Given the description of an element on the screen output the (x, y) to click on. 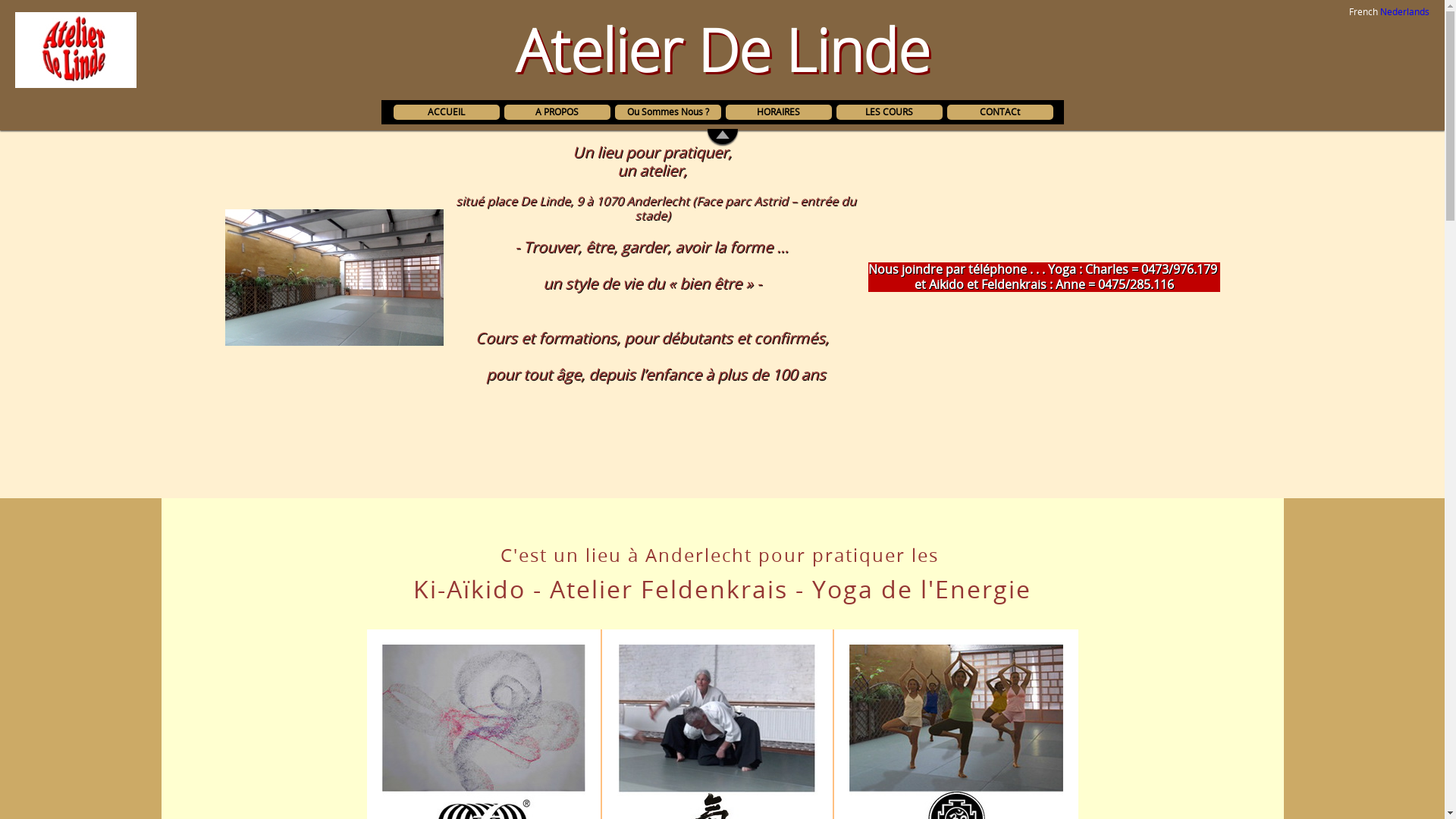
Nederlands Element type: text (1404, 11)
   Element type: text (3, 504)
A PROPOS Element type: text (556, 111)
LES COURS Element type: text (888, 111)
Ou Sommes Nous ? Element type: text (667, 111)
HORAIRES Element type: text (777, 111)
CONTACt Element type: text (999, 111)
HORAIRES Element type: text (777, 111)
Ou Sommes Nous ? Element type: text (667, 111)
LES COURS Element type: text (888, 111)
ACCUEIL Element type: text (445, 111)
A PROPOS Element type: text (556, 111)
CONTACt Element type: text (999, 111)
ACCUEIL Element type: text (445, 111)
